Given the description of an element on the screen output the (x, y) to click on. 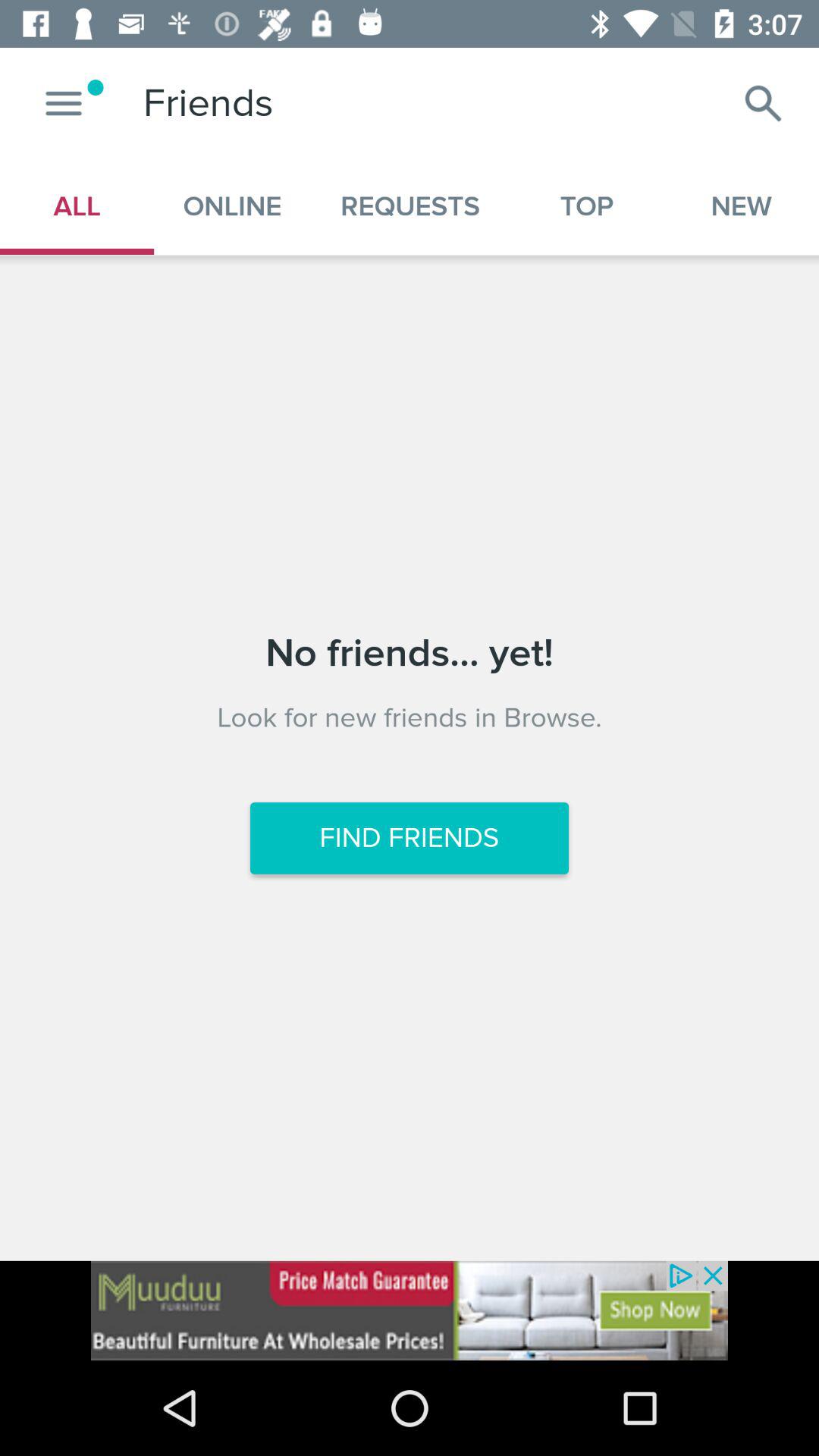
notification option (63, 103)
